Given the description of an element on the screen output the (x, y) to click on. 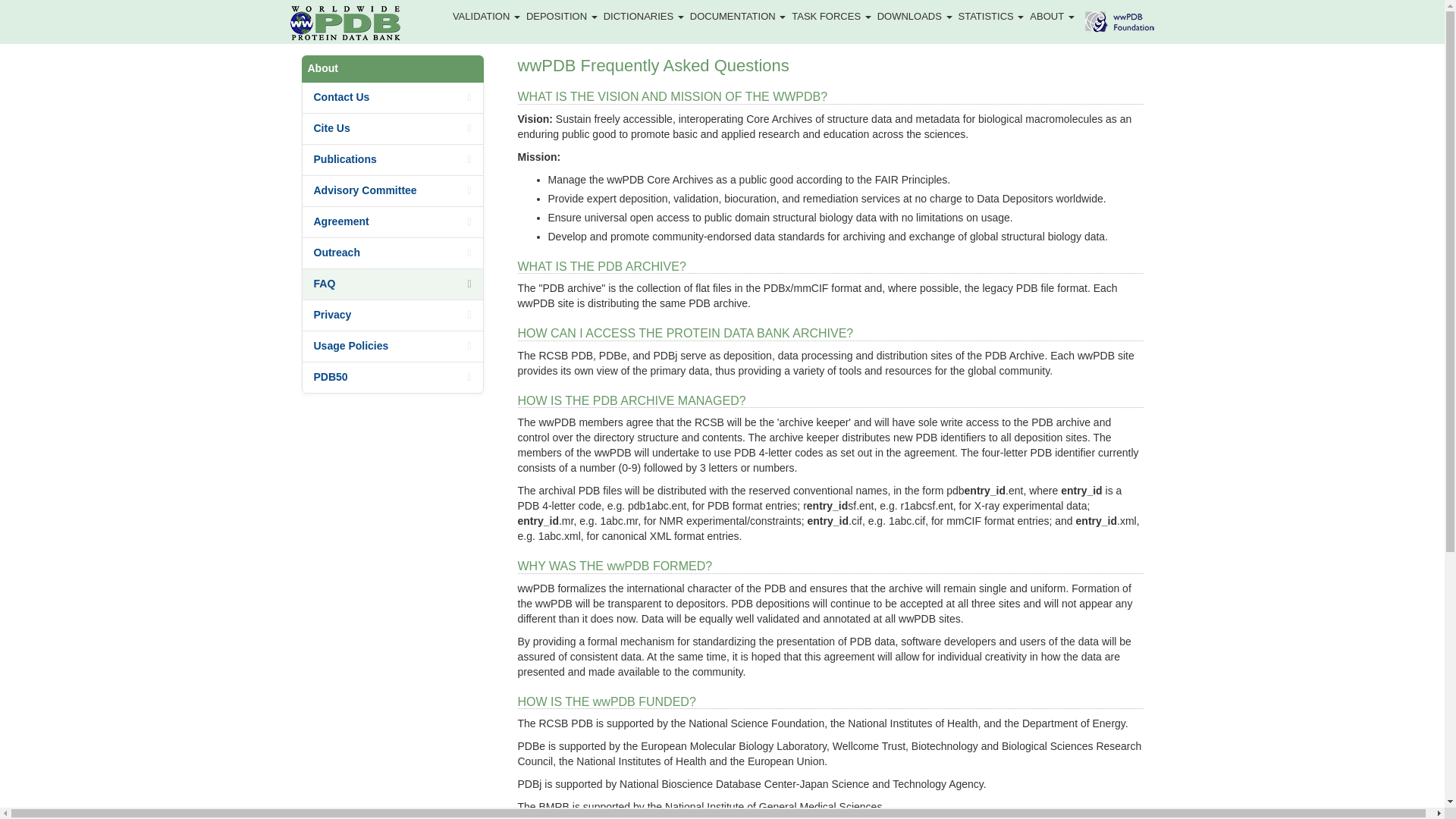
DICTIONARIES (643, 16)
VALIDATION (485, 16)
TASK FORCES (831, 16)
ABOUT (1051, 16)
DEPOSITION (560, 16)
STATISTICS (991, 16)
DOCUMENTATION (738, 16)
DOWNLOADS (915, 16)
